Given the description of an element on the screen output the (x, y) to click on. 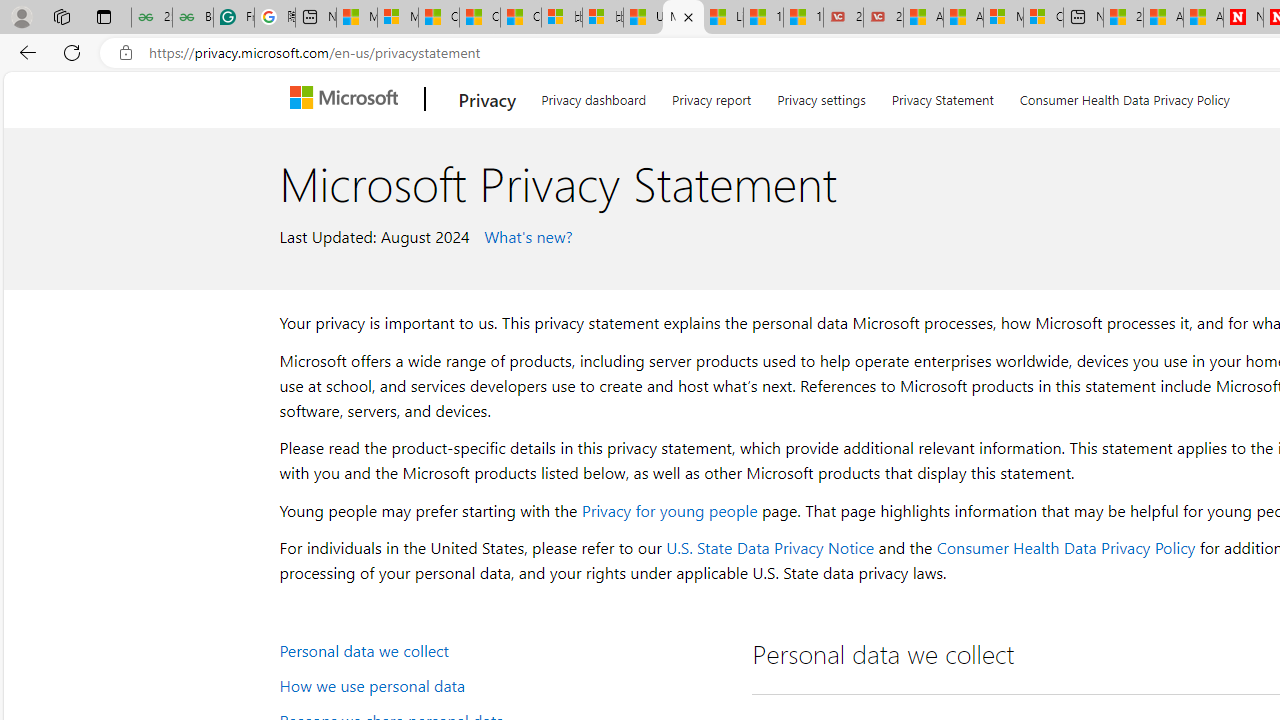
Privacy dashboard (593, 96)
Privacy report (712, 96)
Consumer Health Data Privacy Policy (1124, 96)
 What's new? (525, 235)
Privacy Statement (942, 96)
Privacy dashboard (593, 96)
U.S. State Data Privacy Notice (770, 547)
Privacy report (712, 96)
Privacy for young people (669, 509)
